Given the description of an element on the screen output the (x, y) to click on. 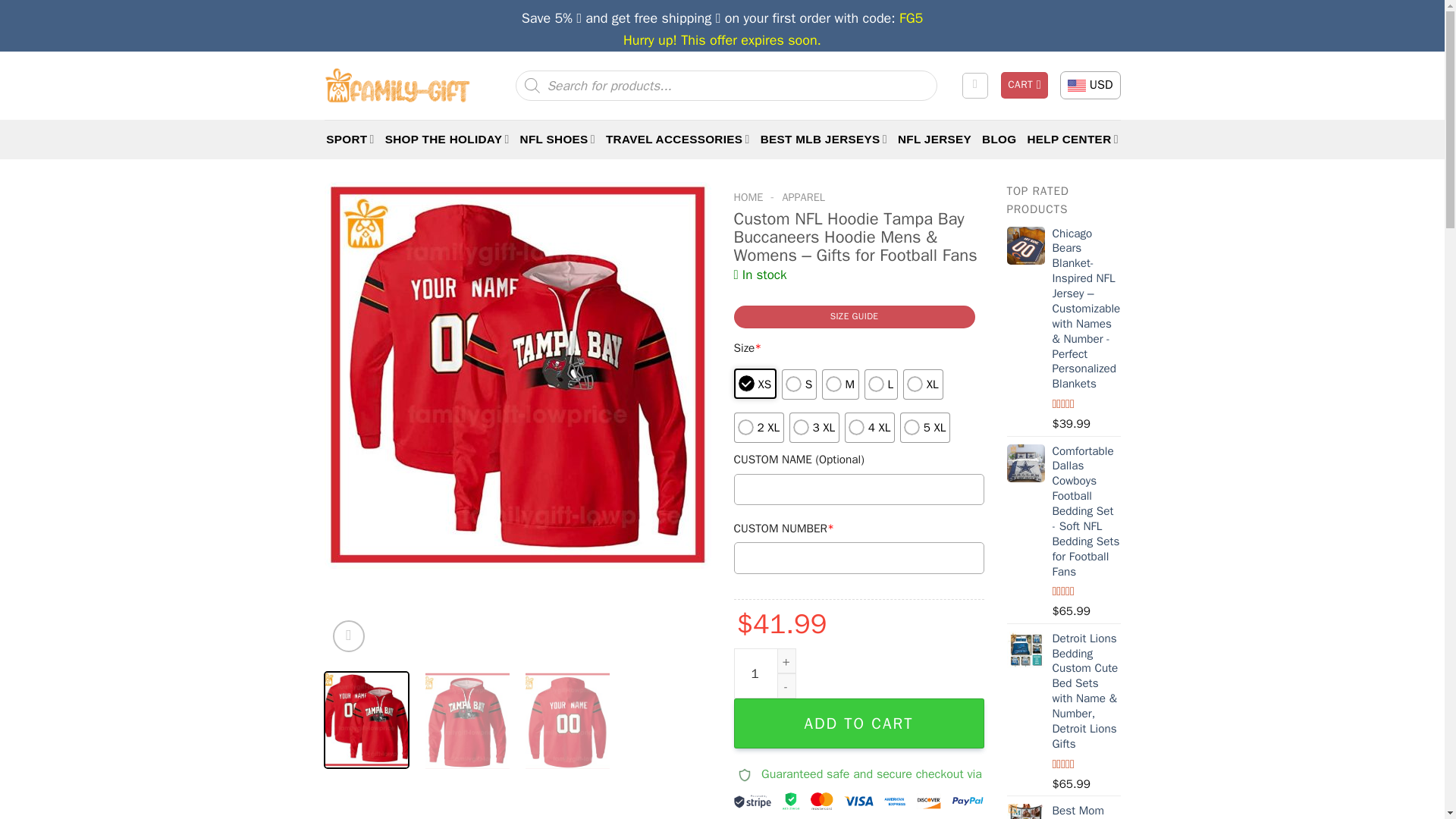
1 (764, 673)
CART (1024, 85)
BEST MLB JERSEYS (823, 138)
NFL SHOES (557, 138)
XL (922, 384)
Gifts From The Heart At Prices You'll Love (397, 85)
Zoom (348, 635)
TRAVEL ACCESSORIES (677, 138)
SPORT (350, 138)
XS (755, 383)
L (881, 384)
M (841, 384)
Cart (1024, 85)
S (798, 384)
SHOP THE HOLIDAY (447, 138)
